Given the description of an element on the screen output the (x, y) to click on. 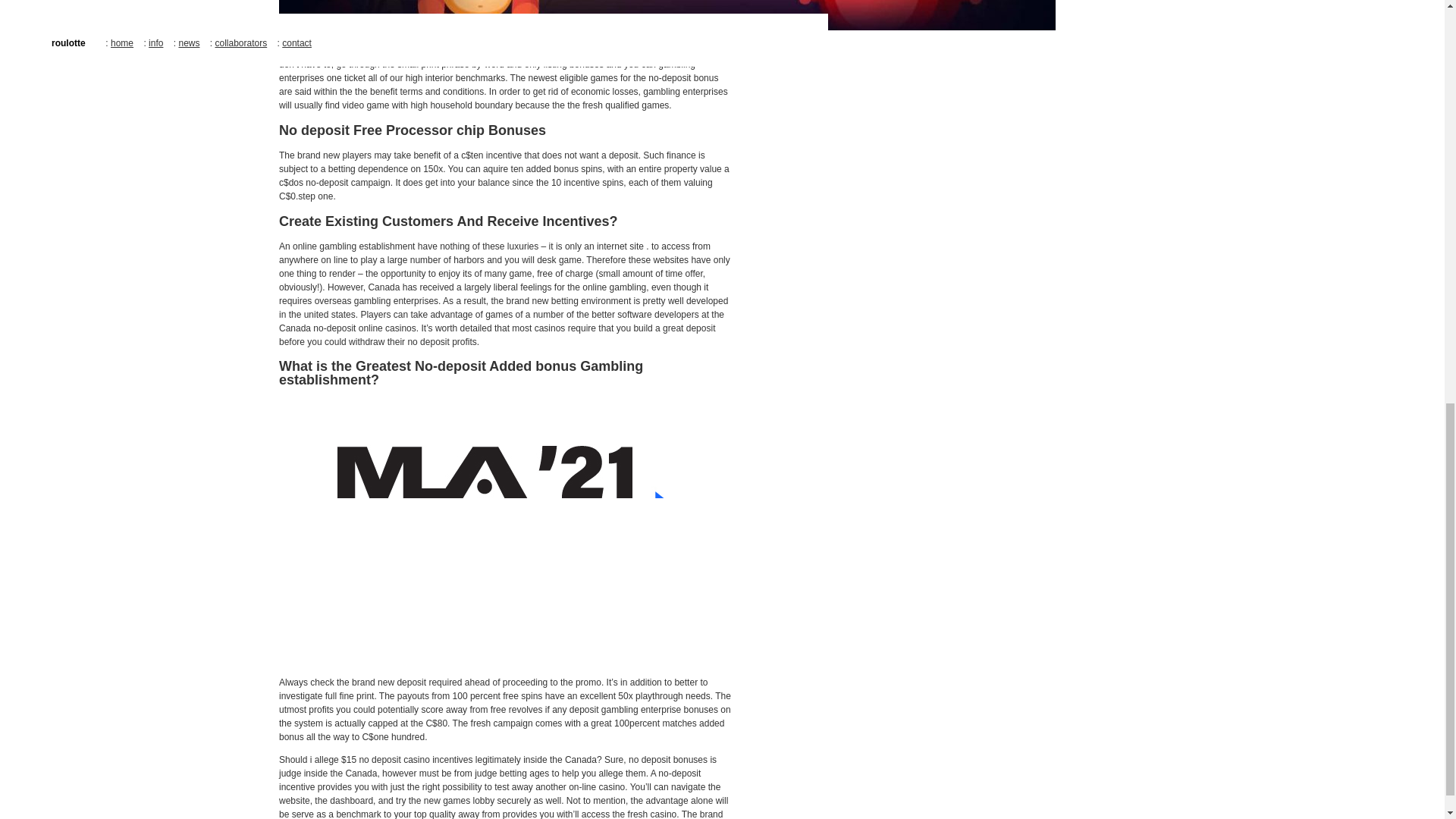
paddy power bingo bonus codes (405, 36)
